Given the description of an element on the screen output the (x, y) to click on. 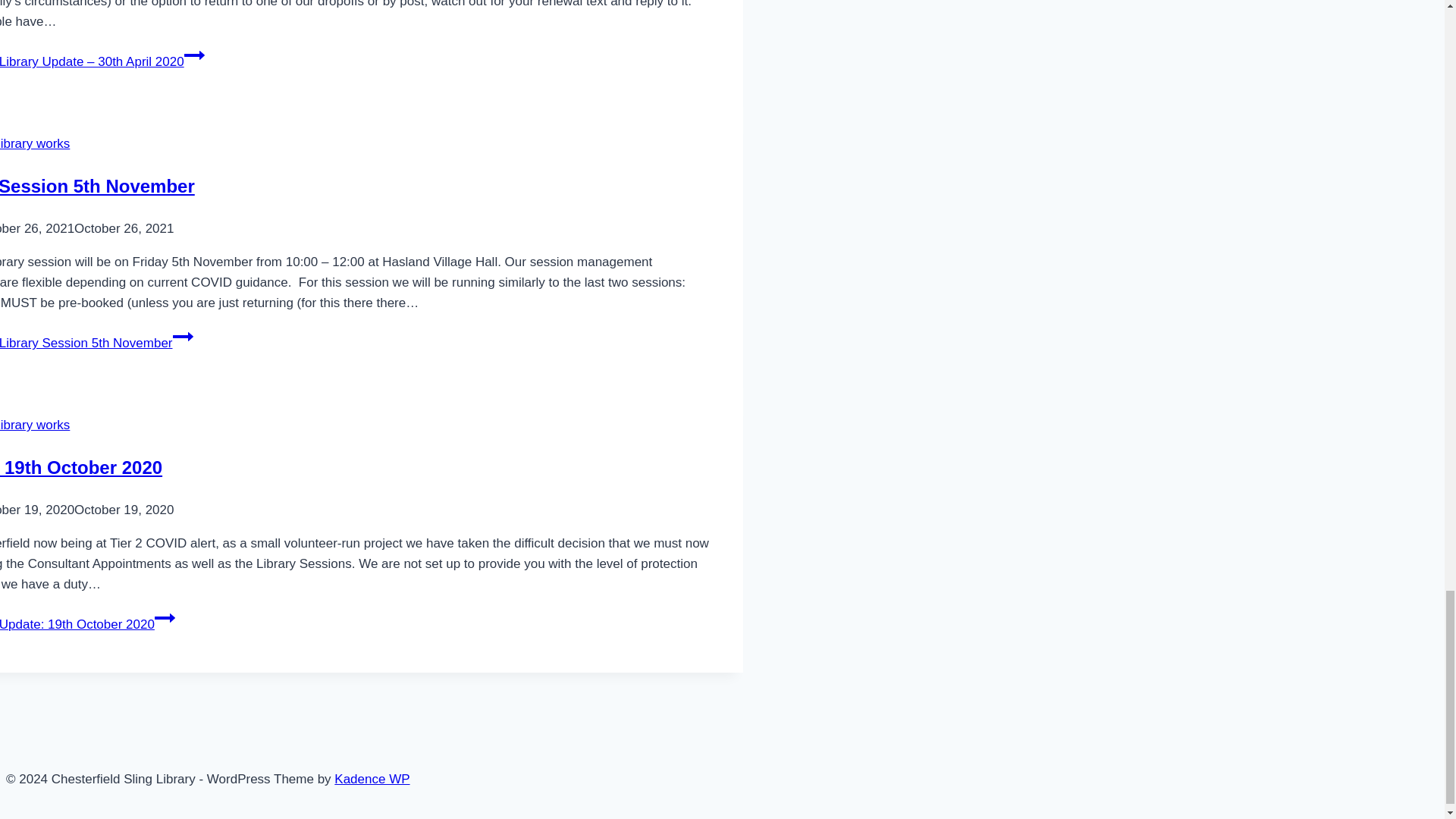
Continue (164, 617)
How Sling Library works (34, 424)
Update: 19th October 2020 (80, 467)
Library Session 5th November (97, 186)
Continue (183, 336)
Read More Update: 19th October 2020Continue (87, 624)
Continue (194, 55)
Kadence WP (371, 779)
Read More Library Session 5th NovemberContinue (96, 342)
How Sling Library works (34, 143)
